Given the description of an element on the screen output the (x, y) to click on. 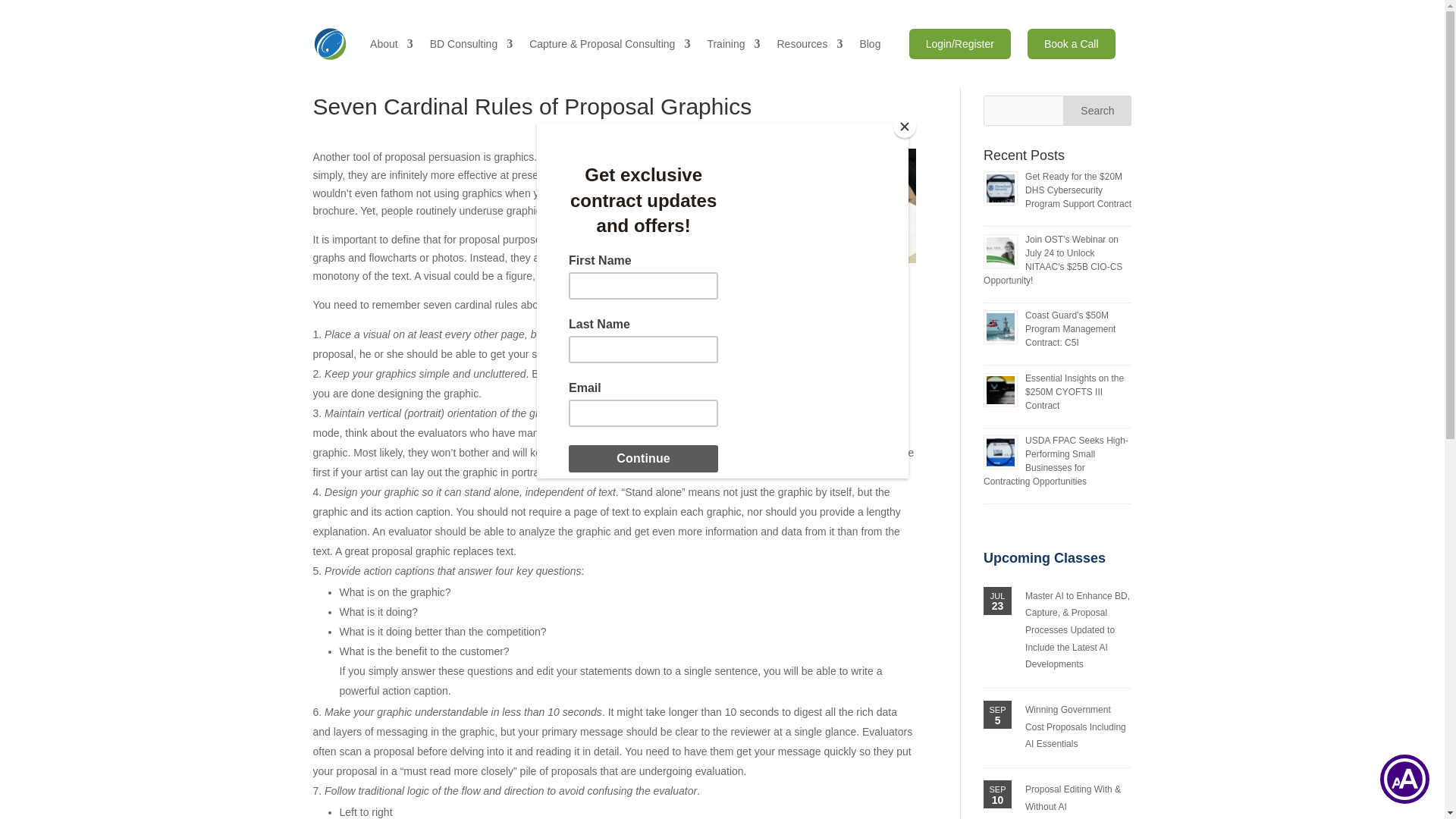
Winning Government Cost Proposals Including AI Essentials (1075, 726)
iframe (722, 300)
